Given the description of an element on the screen output the (x, y) to click on. 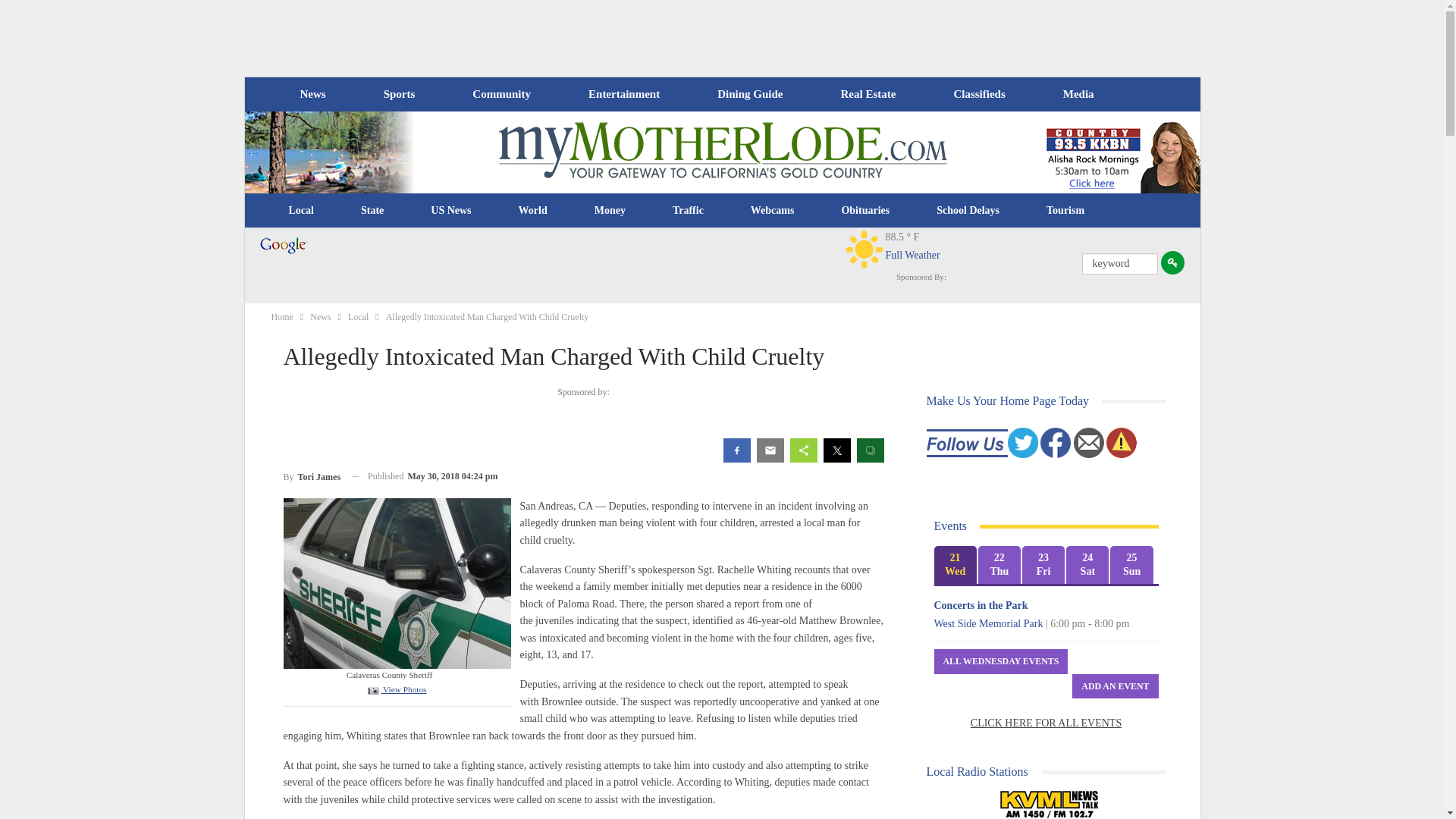
State (372, 210)
Webcams (772, 210)
Submit (1172, 262)
Dining Guide (749, 93)
Media (1078, 93)
Photo taken by: Tracey Petersen (397, 582)
US News (451, 210)
